Given the description of an element on the screen output the (x, y) to click on. 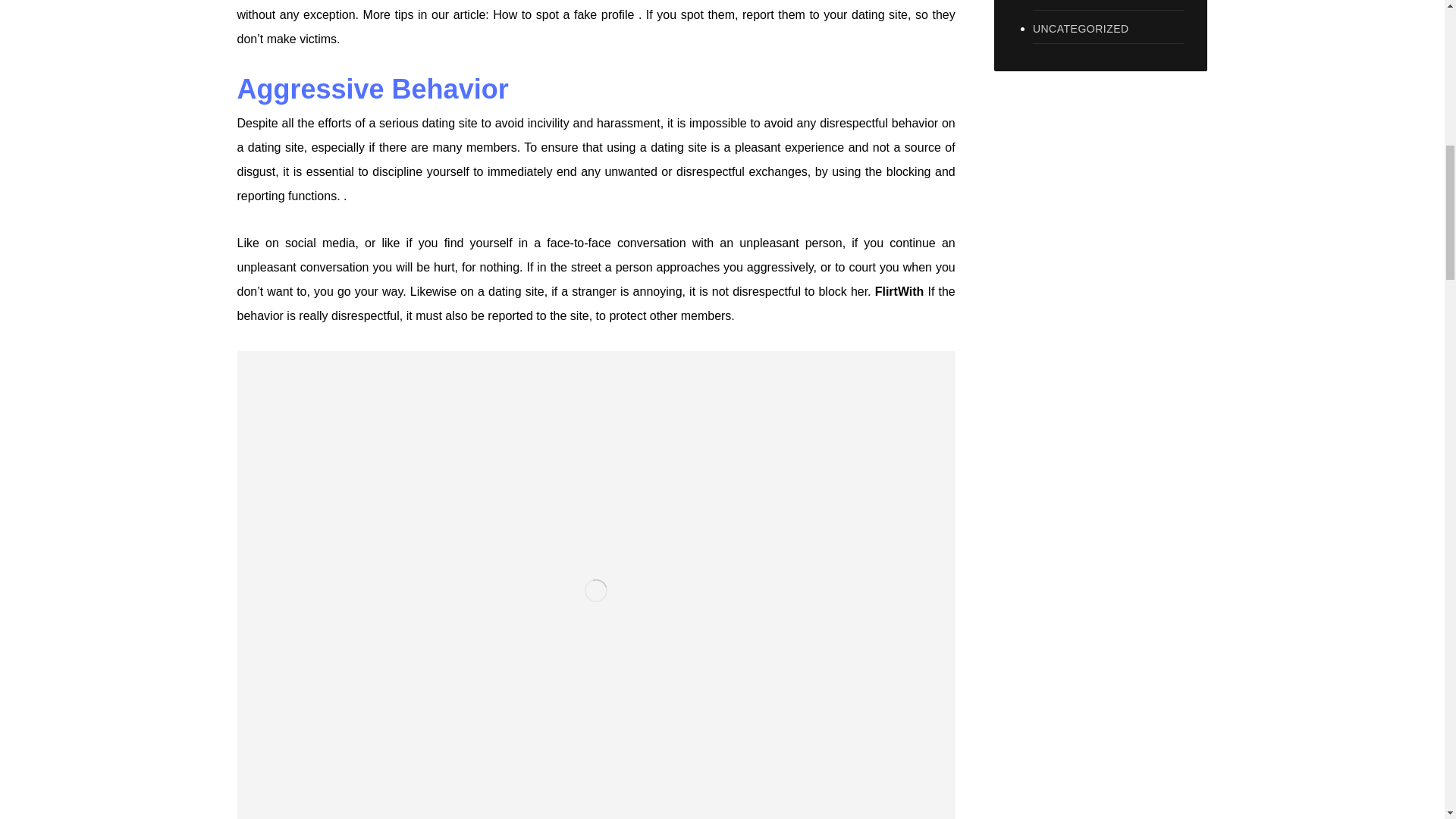
FlirtWith (899, 291)
